Given the description of an element on the screen output the (x, y) to click on. 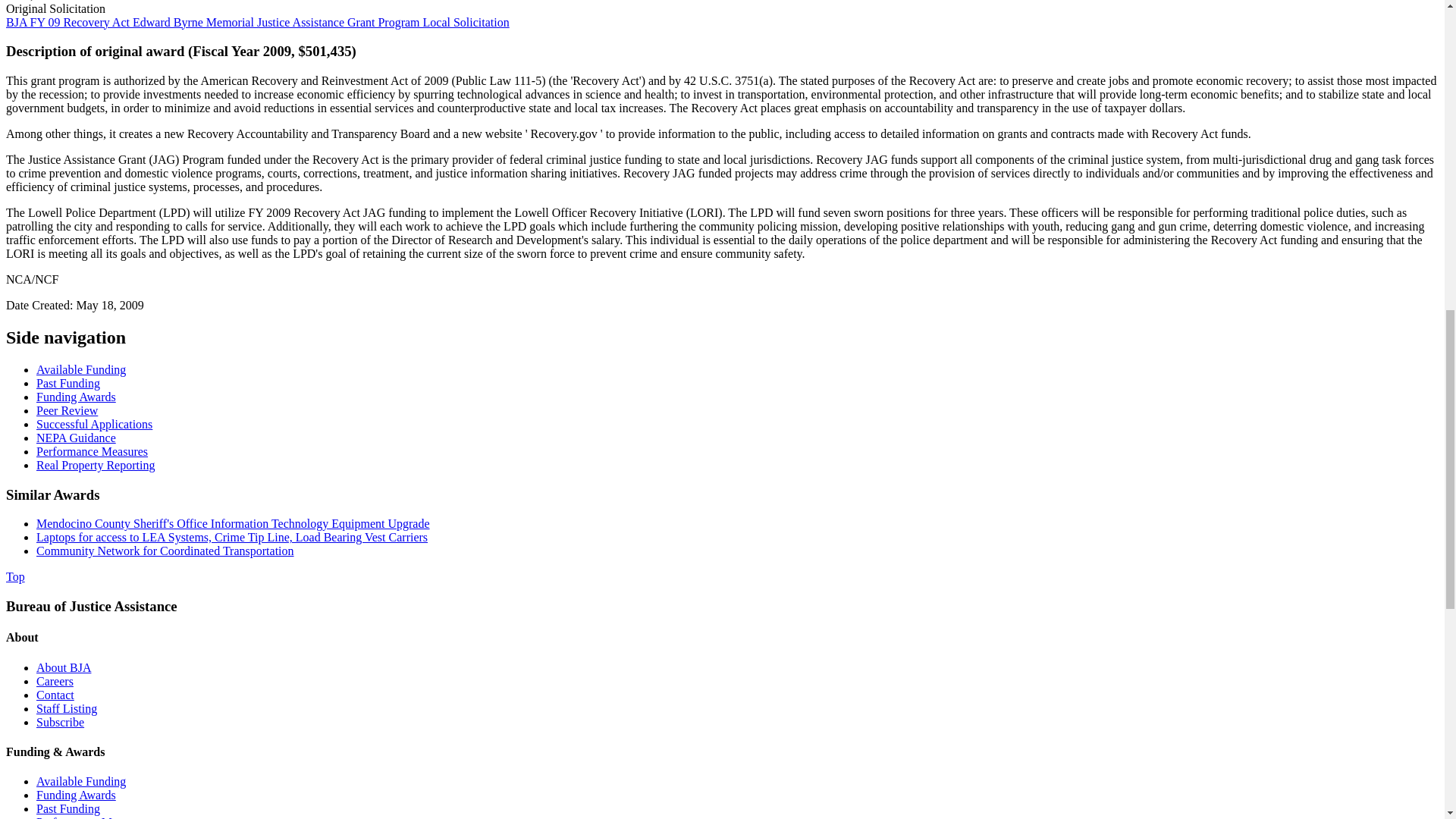
NEPA Guidance (76, 437)
Community Network for Coordinated Transportation (165, 550)
Real Property Reporting (95, 464)
Successful Applications (94, 423)
Funding Awards (76, 396)
Peer Review (66, 410)
Performance Measures (92, 451)
Available Funding (80, 369)
Past Funding (68, 382)
